Given the description of an element on the screen output the (x, y) to click on. 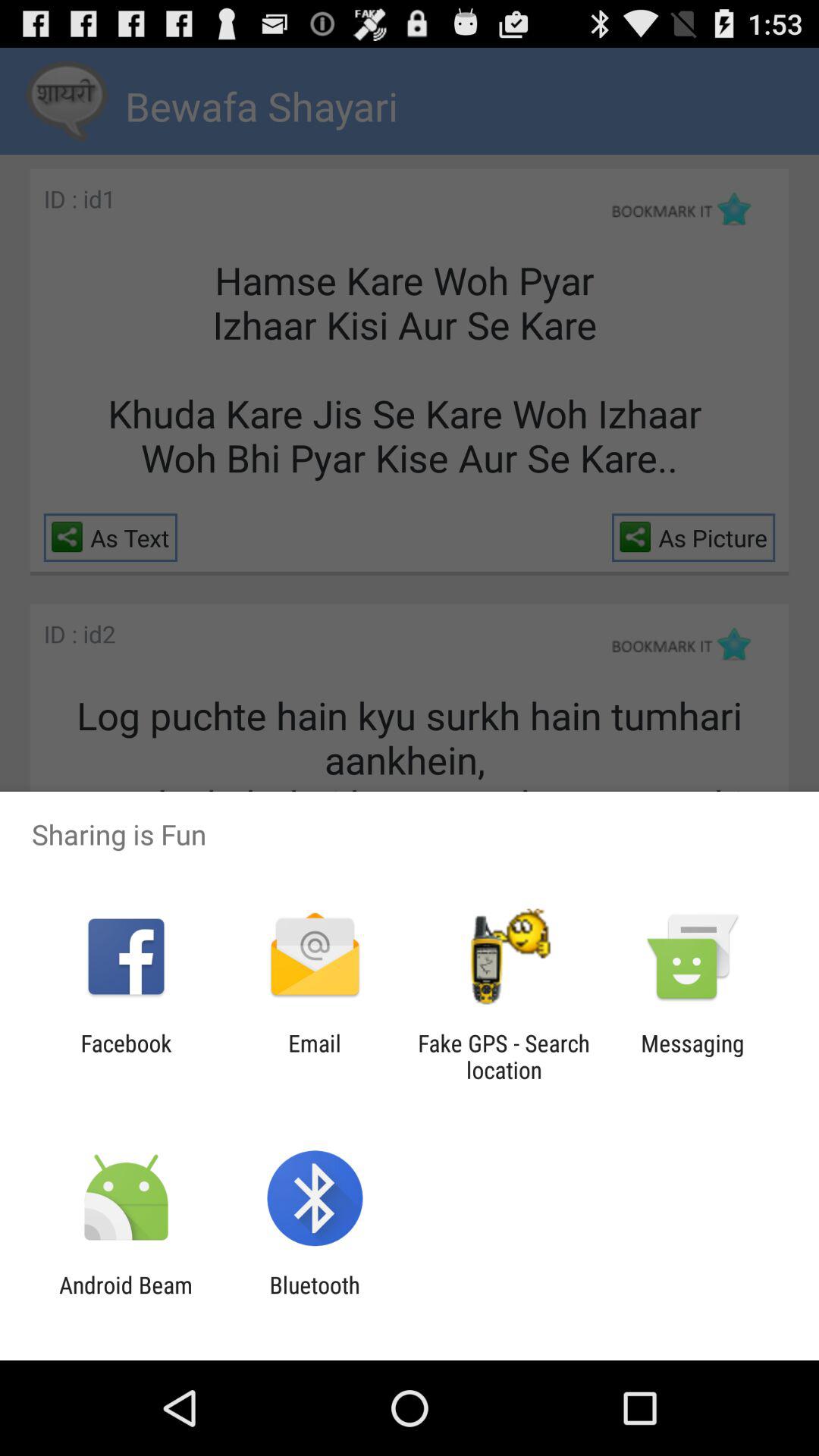
flip to email item (314, 1056)
